Given the description of an element on the screen output the (x, y) to click on. 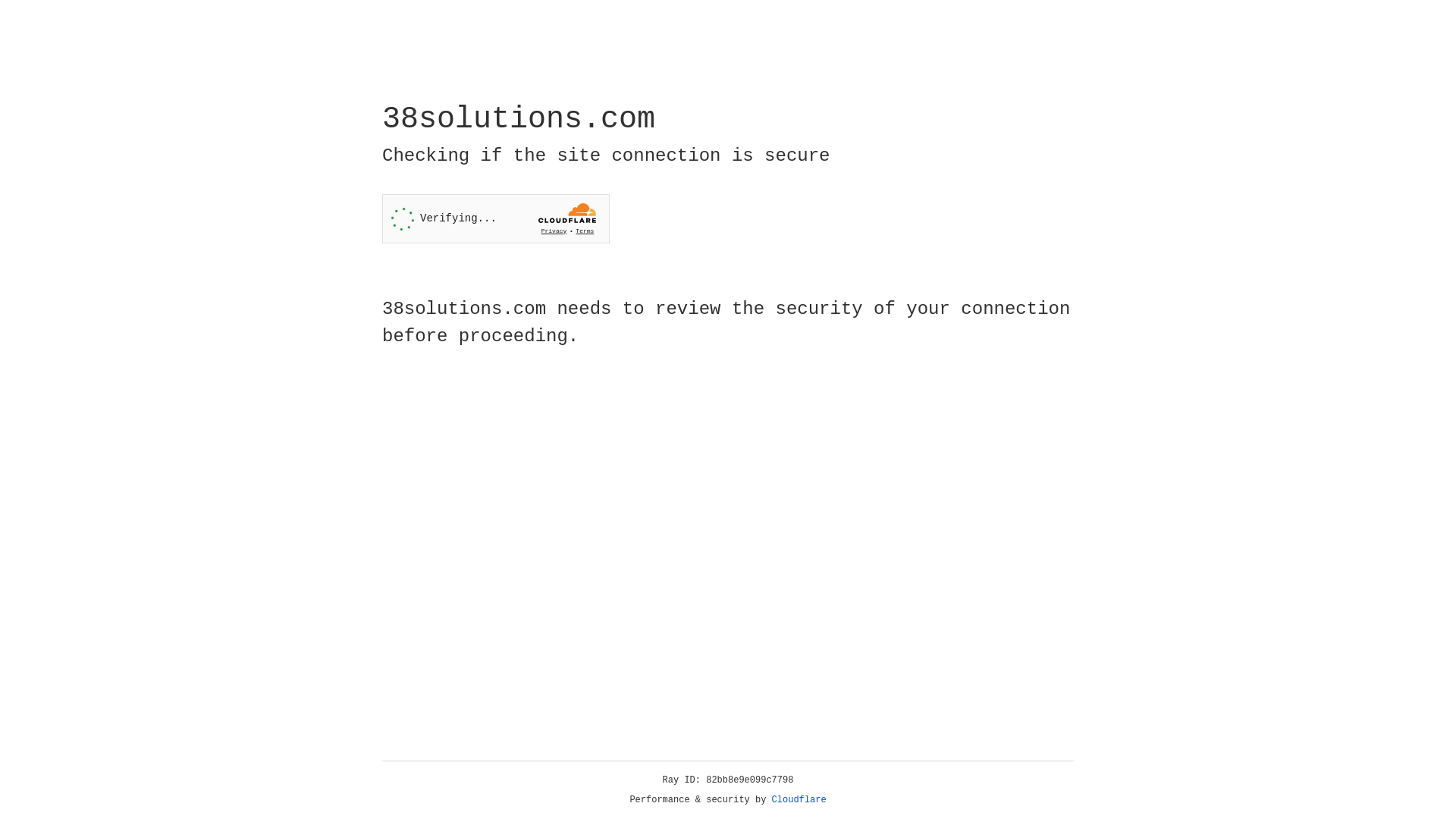
Cloudflare Element type: text (798, 799)
Widget containing a Cloudflare security challenge Element type: hover (495, 218)
